Given the description of an element on the screen output the (x, y) to click on. 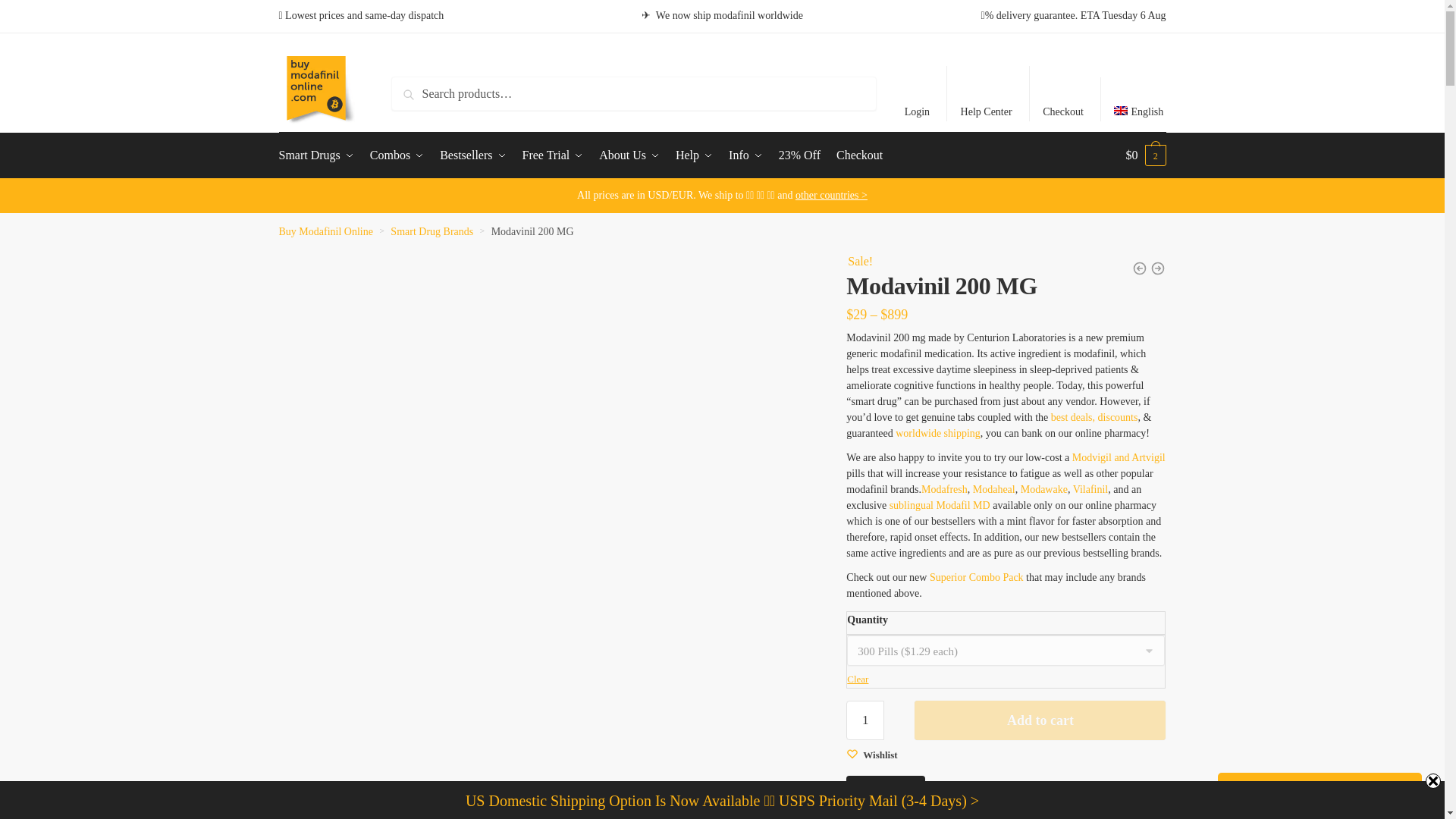
English (1138, 98)
1 (864, 720)
Smart Drugs (319, 155)
English (1138, 98)
Checkout (1063, 93)
Help Center (986, 93)
Home Page (317, 93)
Search (424, 93)
